Given the description of an element on the screen output the (x, y) to click on. 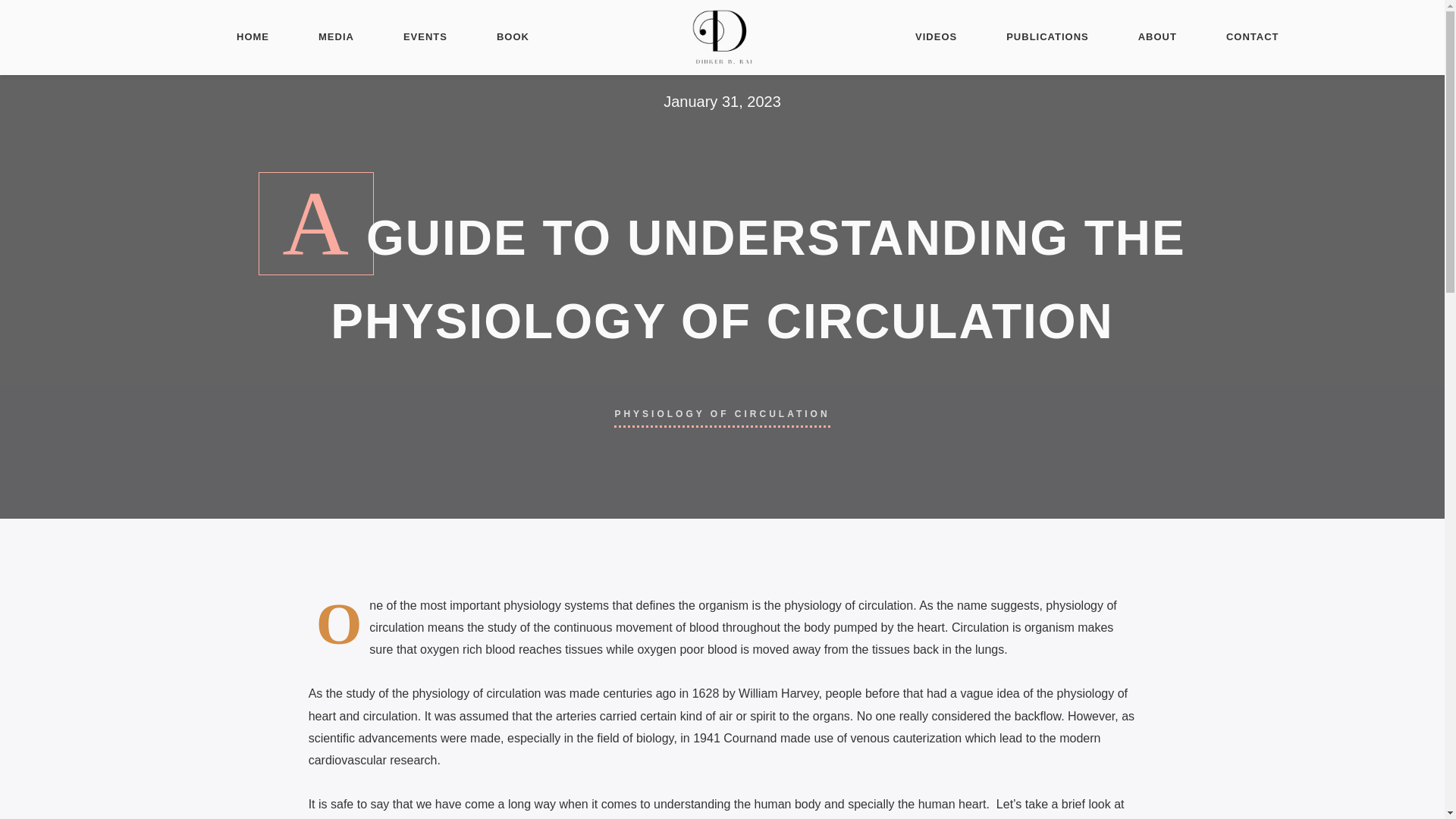
VIDEOS (935, 37)
SUBSCRIBE (852, 648)
Gallery (502, 718)
Events (501, 690)
Contact (504, 663)
HOME (252, 37)
Notable Publications (544, 581)
About (499, 635)
PHYSIOLOGY OF CIRCULATION (721, 413)
BOOK (512, 37)
